Given the description of an element on the screen output the (x, y) to click on. 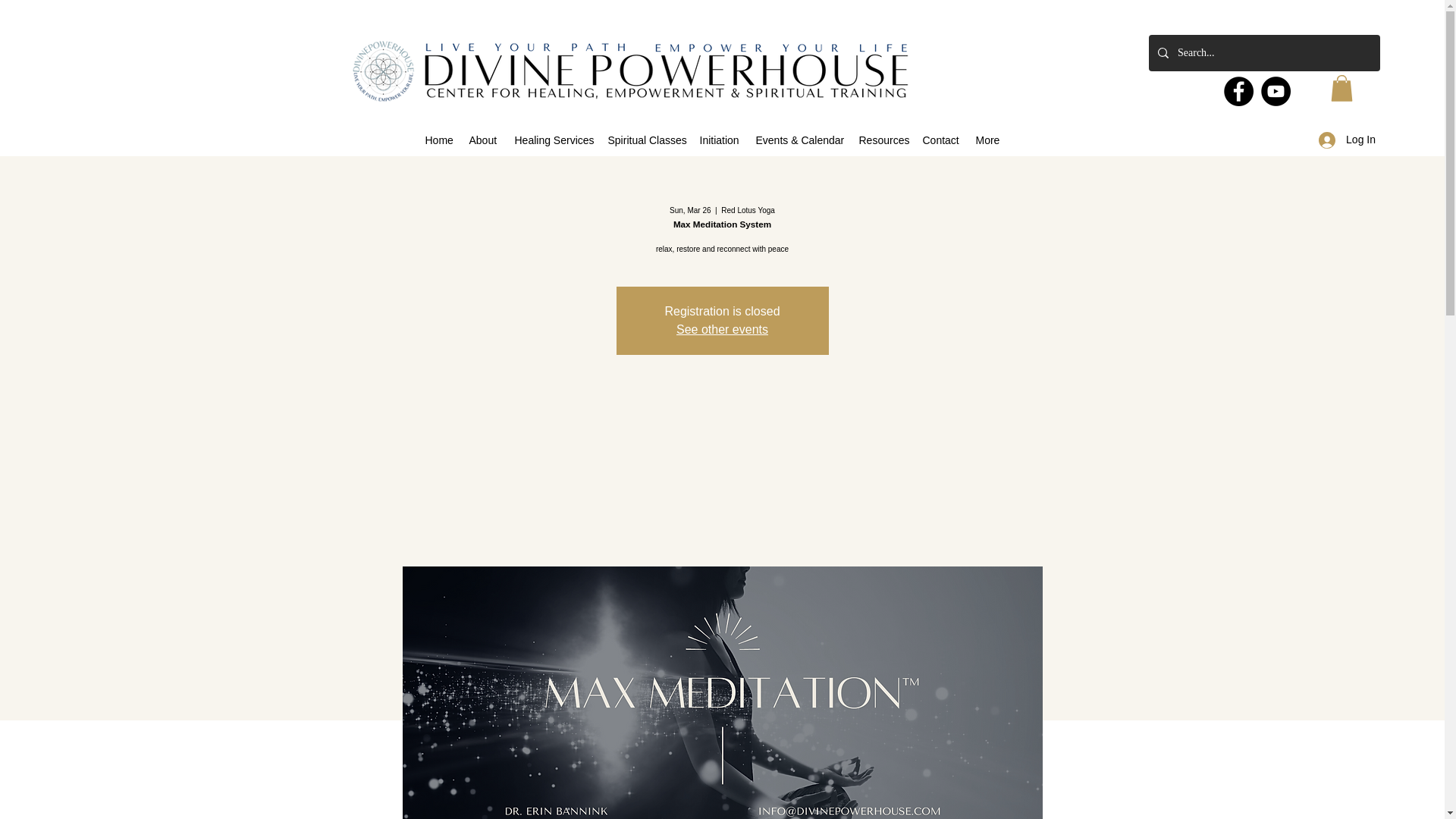
Healing Services (552, 139)
Log In (1346, 139)
Initiation (719, 139)
Divine PowerHouse logo rectangle clipped (631, 70)
Spiritual Classes (646, 139)
Home (438, 139)
About (483, 139)
Contact (941, 139)
